Given the description of an element on the screen output the (x, y) to click on. 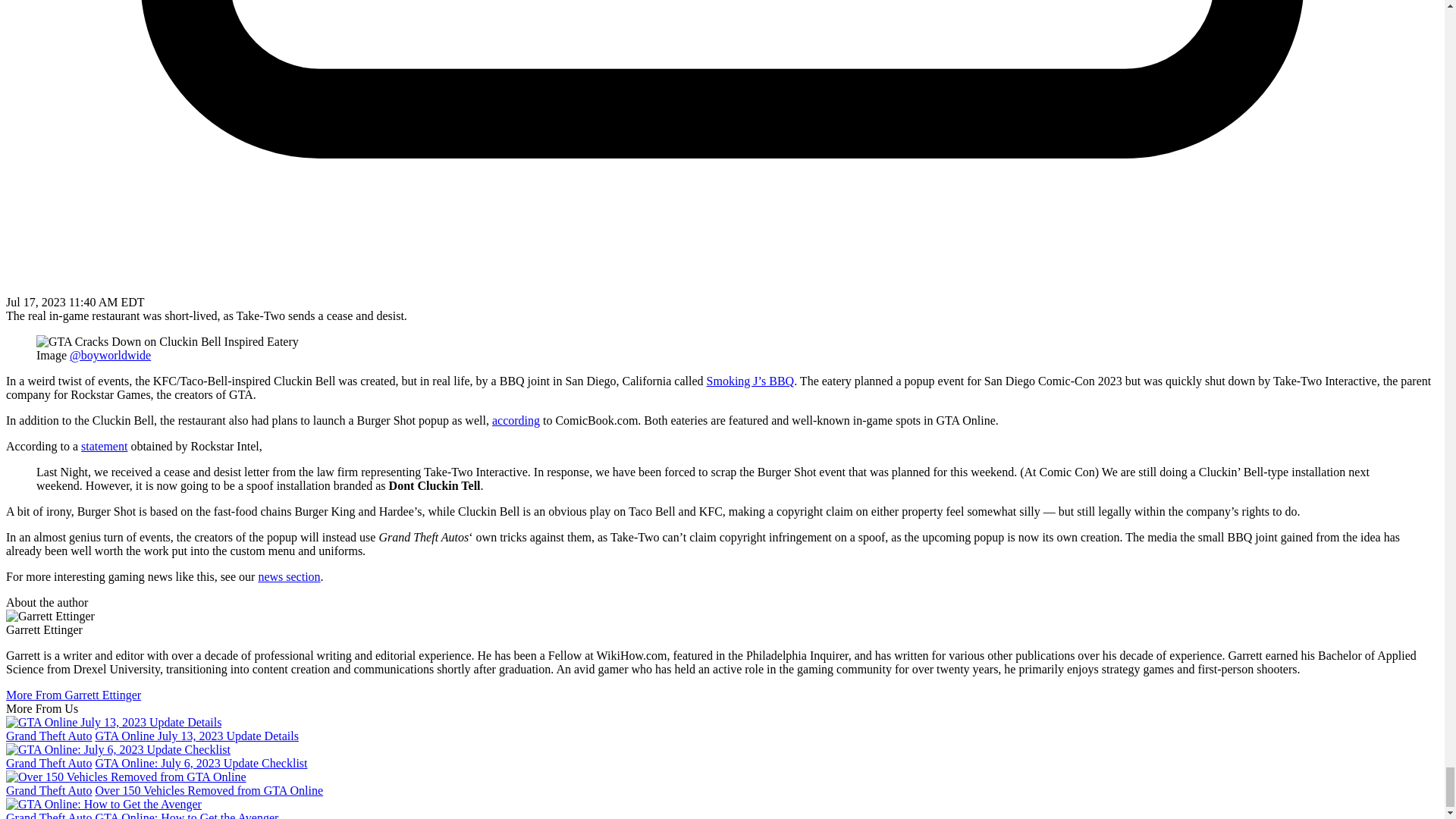
statement (104, 445)
GTA Online: July 6, 2023 Update Checklist (200, 762)
Grand Theft Auto (48, 789)
news section (288, 576)
according (516, 420)
Grand Theft Auto (48, 735)
More From Garrett Ettinger (73, 694)
Over 150 Vehicles Removed from GTA Online (208, 789)
GTA Online July 13, 2023 Update Details (196, 735)
Grand Theft Auto (48, 762)
